Given the description of an element on the screen output the (x, y) to click on. 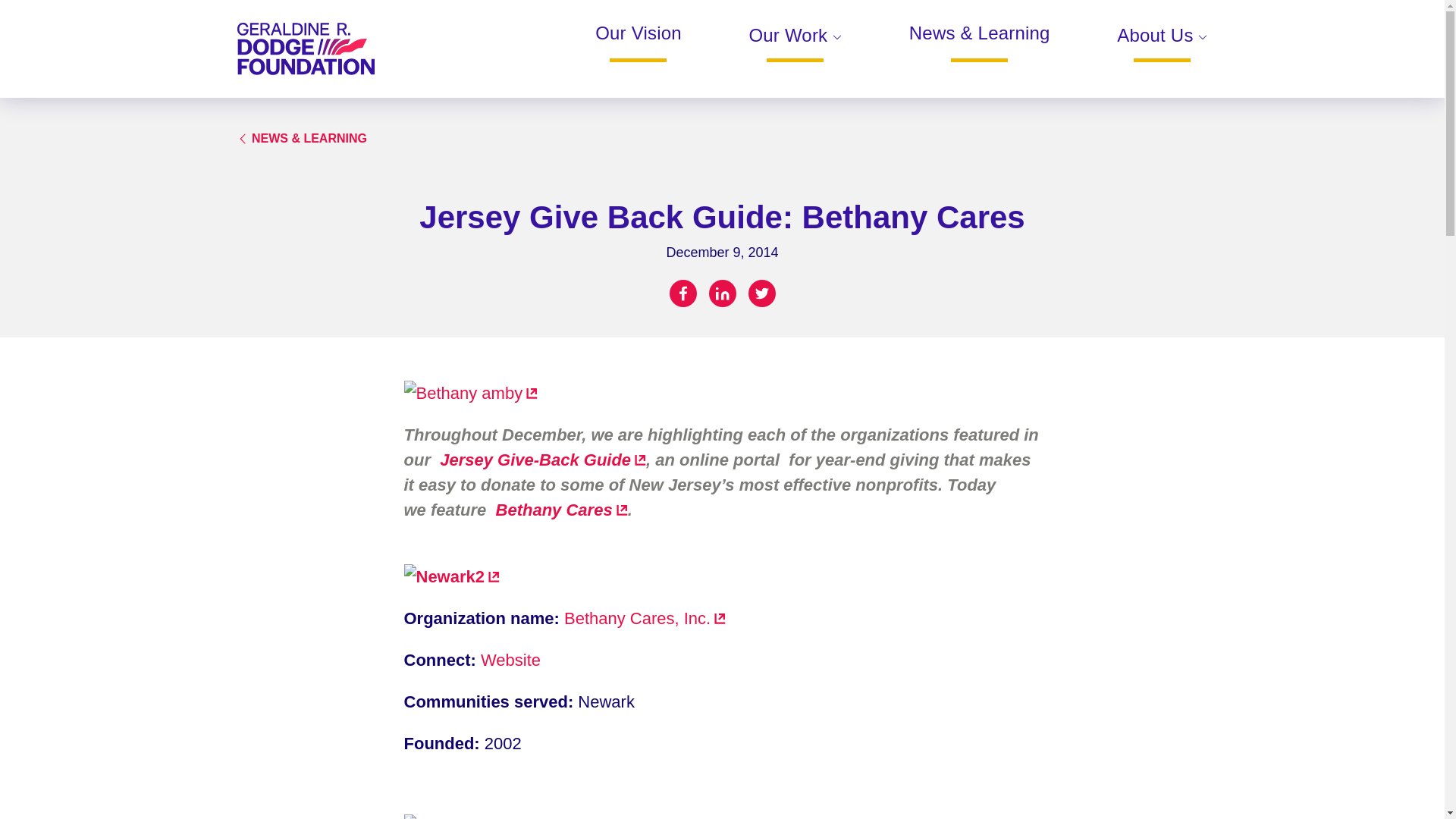
Our Vision (638, 42)
Website (510, 659)
Bethany Cares, Inc. (644, 618)
facebook (681, 293)
twitter (761, 293)
linkedin (721, 293)
Jersey Give-Back Guide (540, 459)
About Us (1161, 44)
Our Work (794, 44)
Bethany Cares (558, 509)
